Given the description of an element on the screen output the (x, y) to click on. 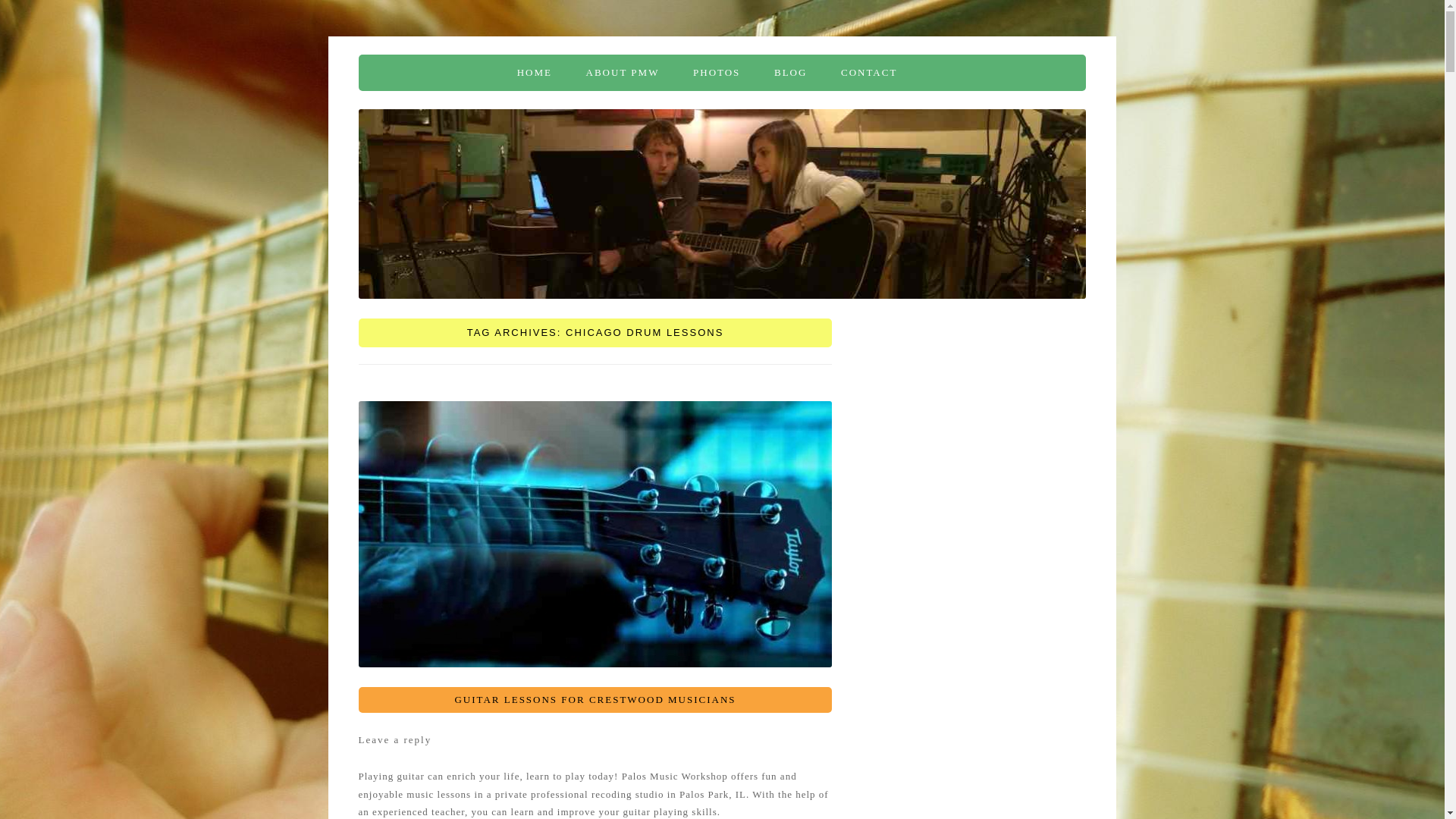
Palos Music Workshop (465, 72)
PHOTOS (716, 72)
BLOG (790, 72)
Leave a reply (394, 739)
HOME (533, 72)
CONTACT (868, 72)
GUITAR LESSONS FOR CRESTWOOD MUSICIANS (594, 699)
ABOUT PMW (622, 72)
